Given the description of an element on the screen output the (x, y) to click on. 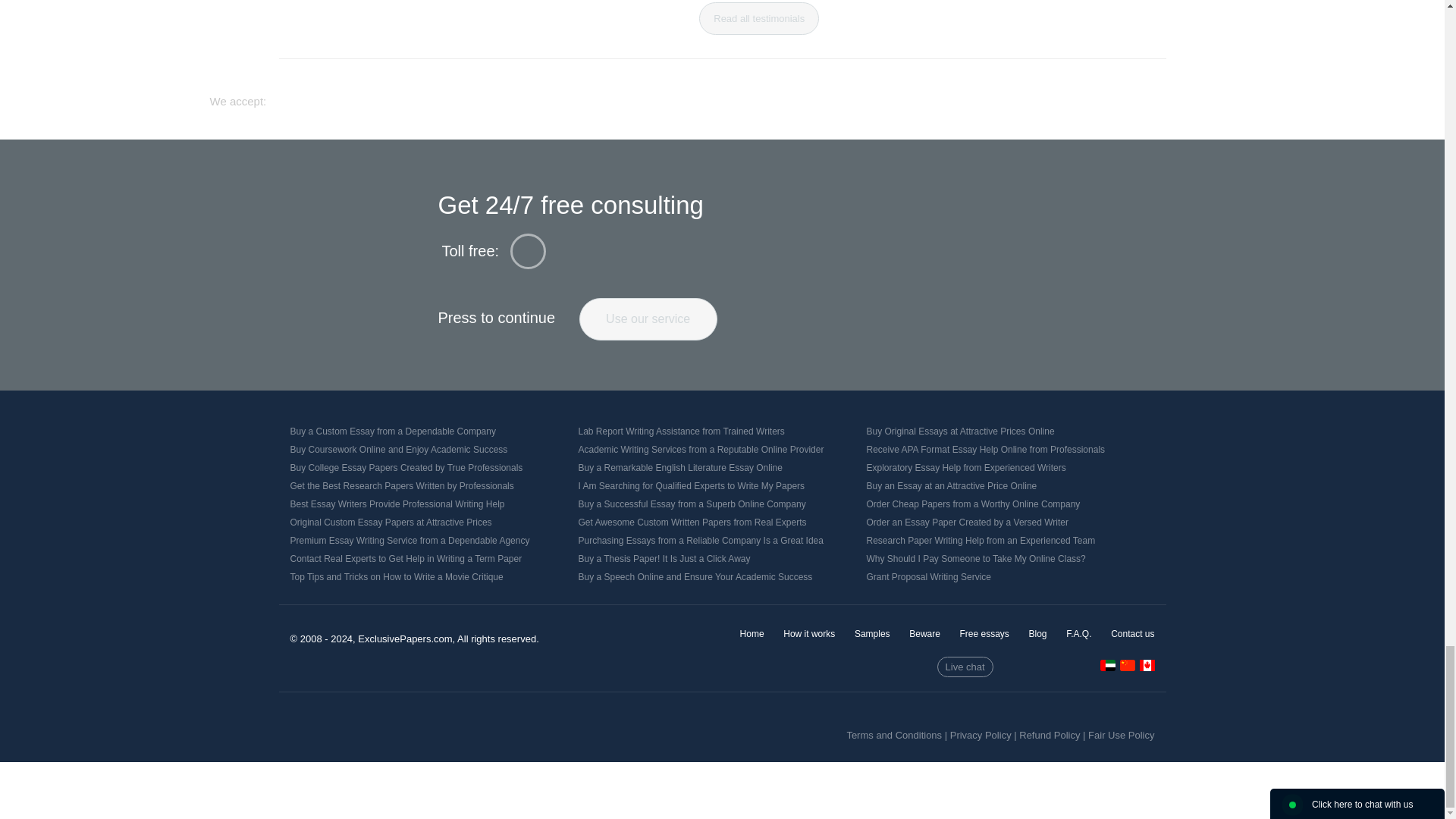
Credit cards by American Express (783, 95)
Essay Writing in United Arab Emirates (1107, 667)
Essay Writing in China (1127, 667)
Essay Writing in USA (1146, 667)
Apple pay (842, 94)
Credit and debit cards by Visa (607, 94)
Essay Writing in United Arab Emirates (1107, 665)
Essay Writing in China (1127, 665)
Credit and debit cards by MasterCard (695, 94)
